Given the description of an element on the screen output the (x, y) to click on. 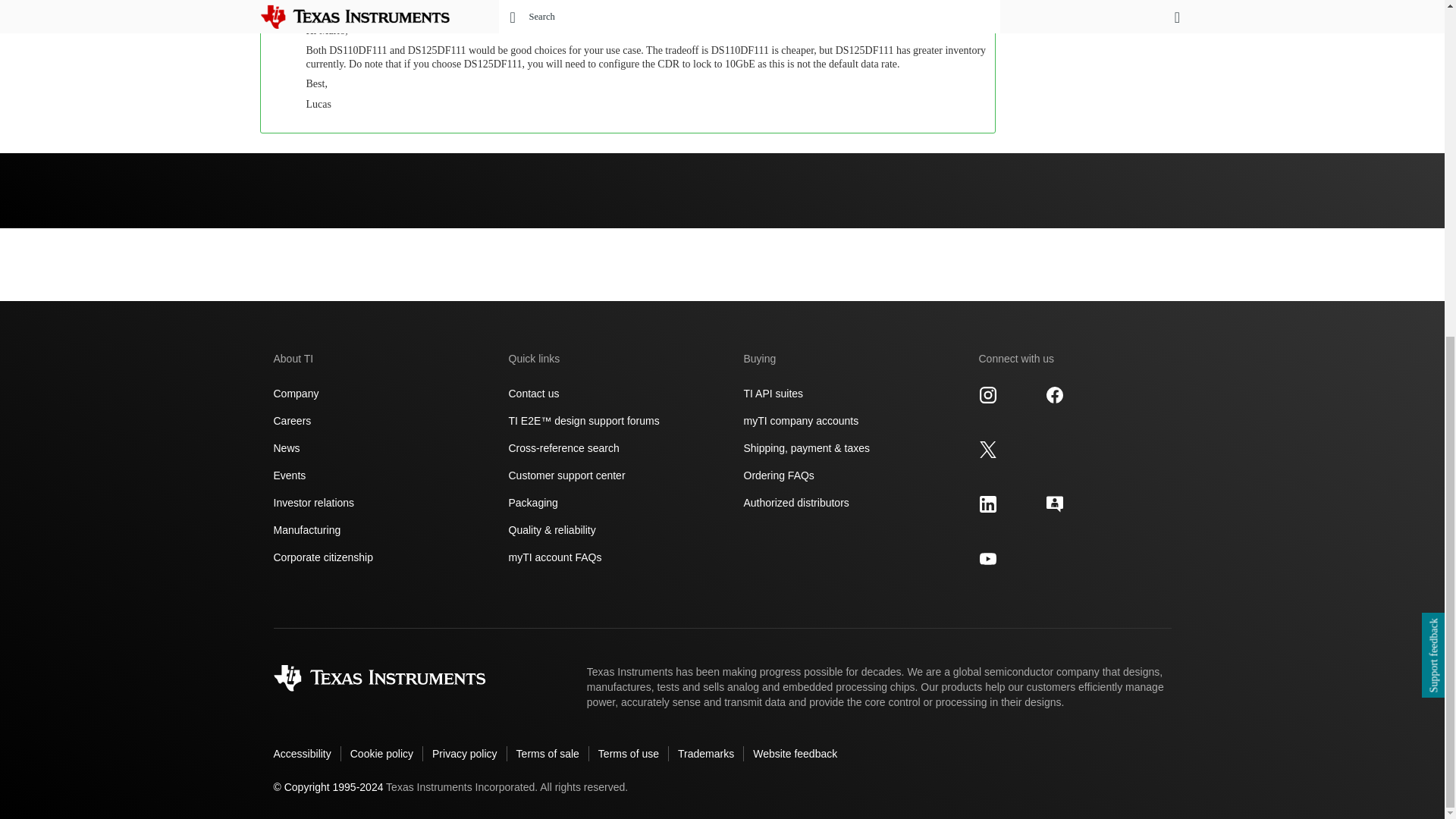
twitter (986, 449)
linkedin (986, 504)
e2e (1053, 504)
facebook (1053, 394)
Click here for explanation of levels (881, 1)
Texas Instruments (378, 678)
youtube (986, 558)
instagram (986, 394)
